Given the description of an element on the screen output the (x, y) to click on. 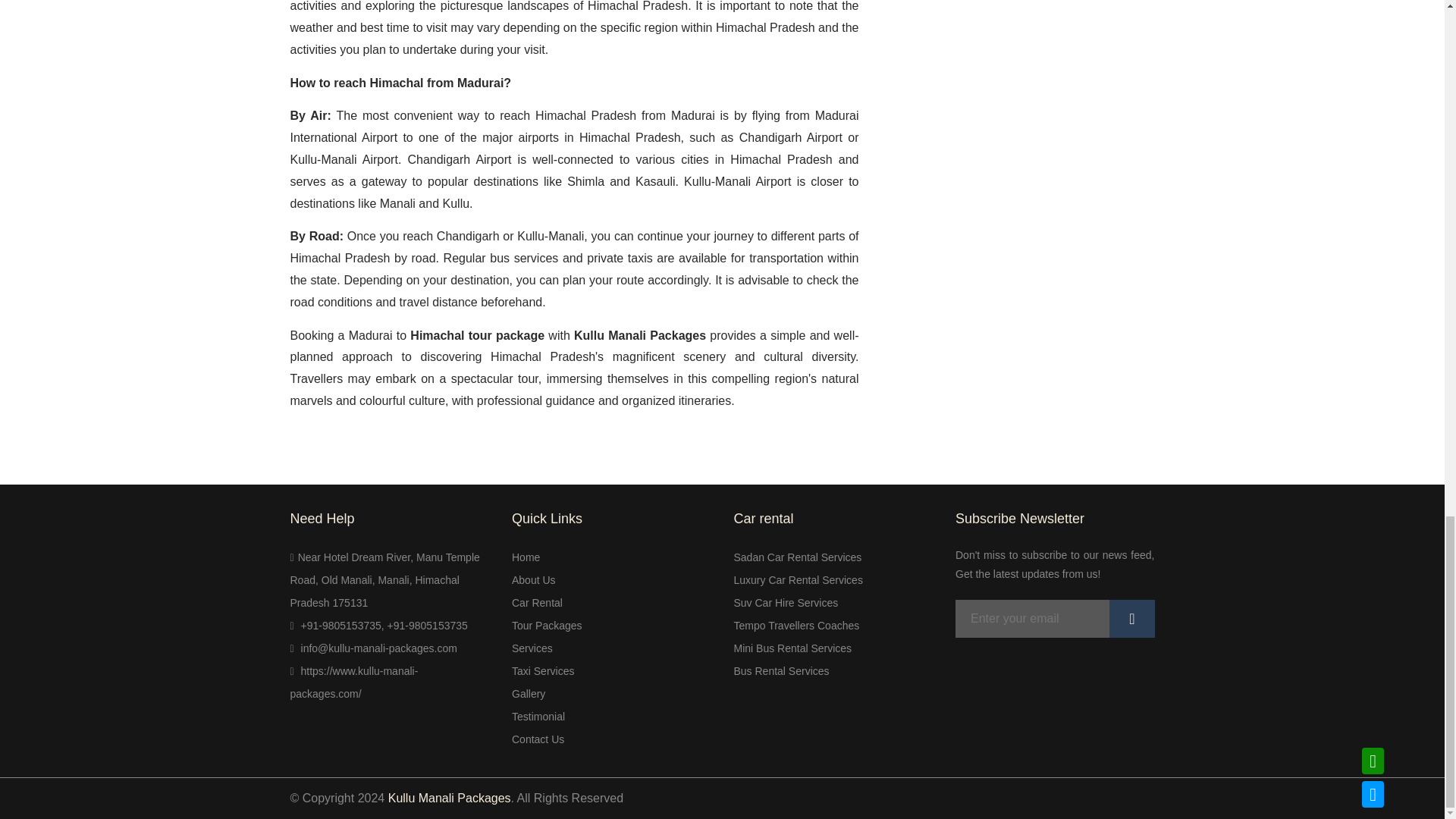
Home (526, 557)
